Given the description of an element on the screen output the (x, y) to click on. 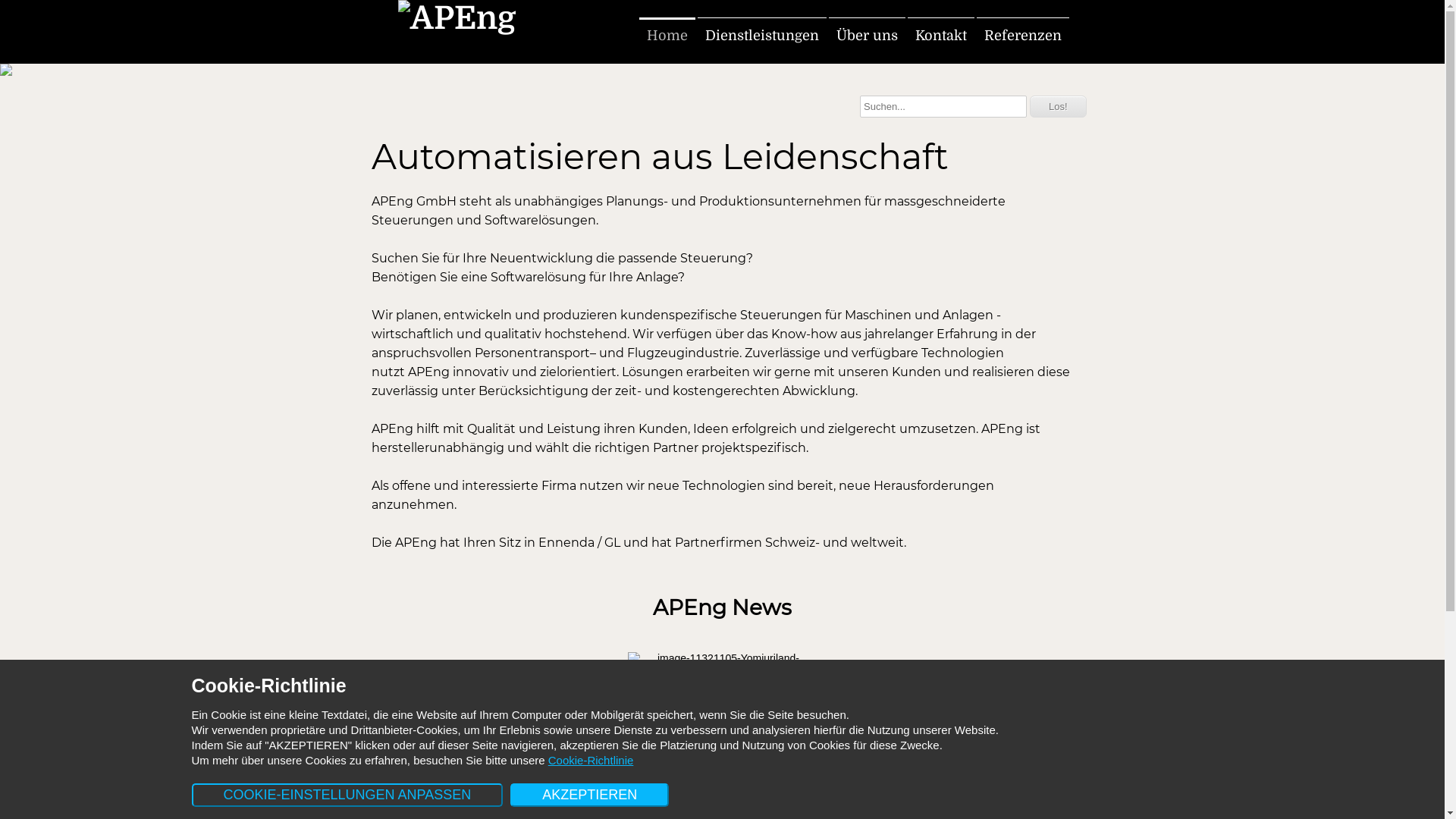
Dienstleistungen Element type: text (761, 35)
Home Element type: text (666, 35)
AKZEPTIEREN Element type: text (589, 794)
COOKIE-EINSTELLUNGEN ANPASSEN Element type: text (346, 794)
Los! Element type: text (1057, 106)
Referenzen Element type: text (1022, 35)
Kontakt Element type: text (939, 35)
Cookie-Richtlinie Element type: text (590, 759)
